Given the description of an element on the screen output the (x, y) to click on. 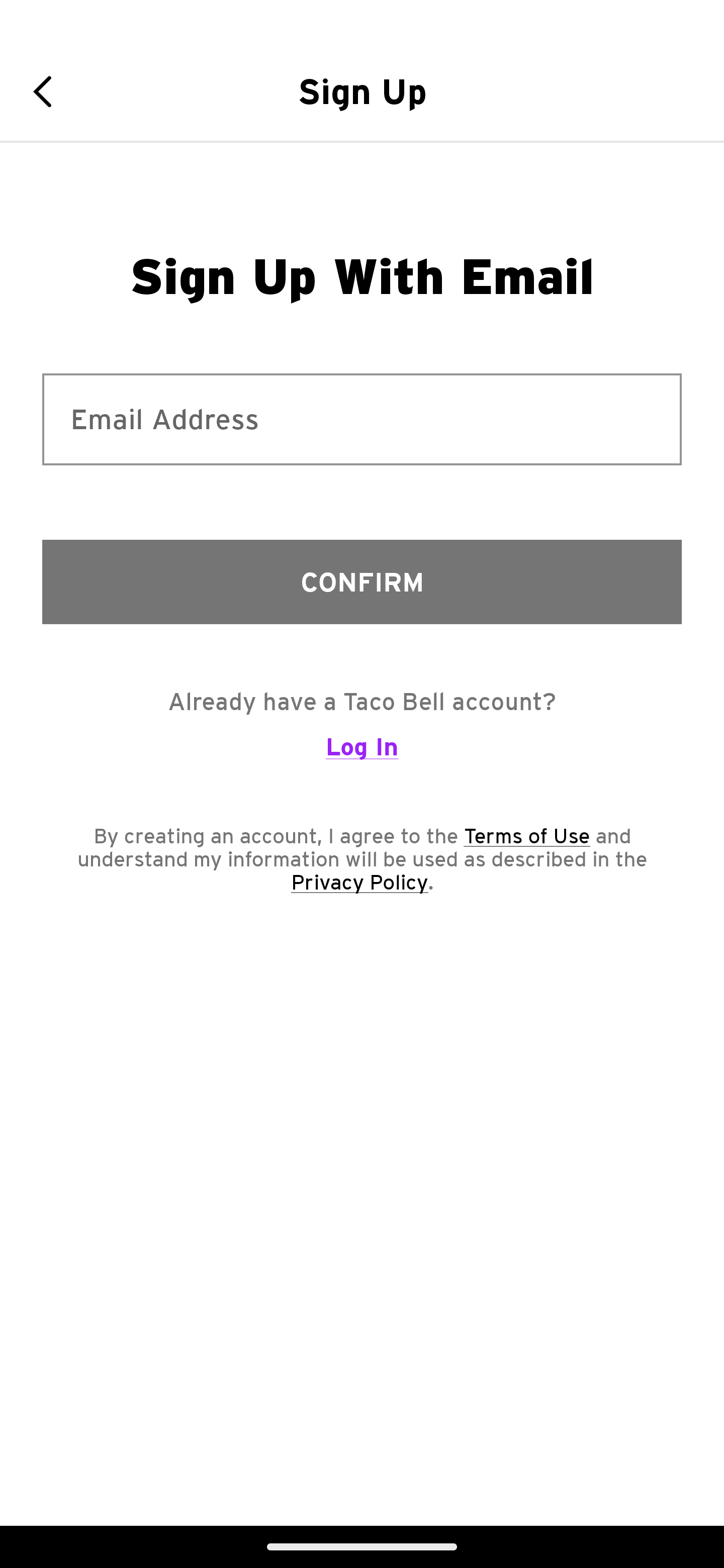
Navigate up (49, 91)
Email Address (361, 419)
CONFIRM (361, 581)
Log In (361, 754)
